Given the description of an element on the screen output the (x, y) to click on. 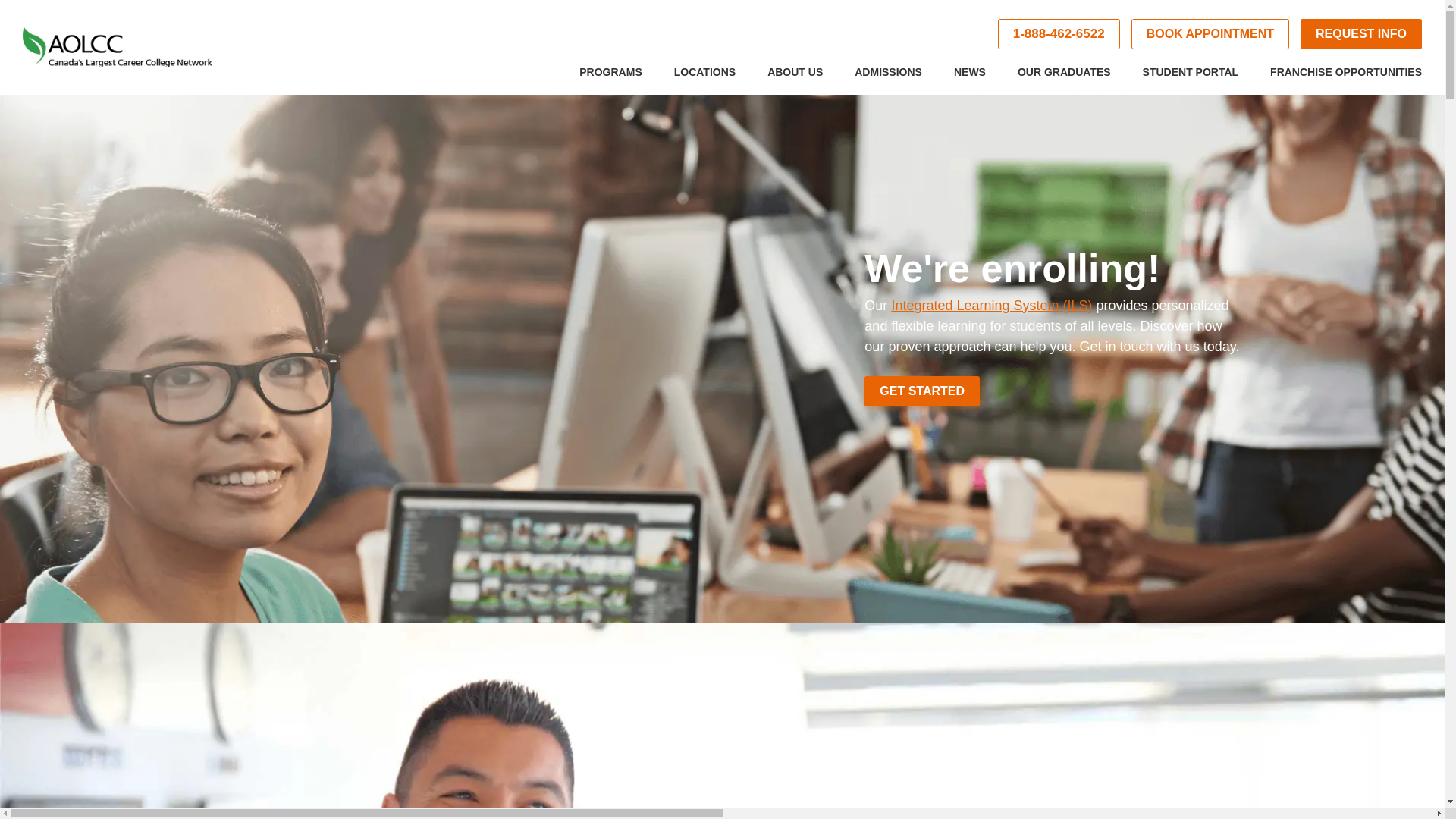
1-888-462-6522 (1058, 33)
Request Info (1361, 33)
Book Appointment (1209, 33)
BOOK APPOINTMENT (1209, 33)
1-888-462-6522 (1058, 33)
PROGRAMS (610, 79)
Locations (704, 79)
LOCATIONS (704, 79)
Academy of Learning (117, 47)
REQUEST INFO (1361, 33)
